Given the description of an element on the screen output the (x, y) to click on. 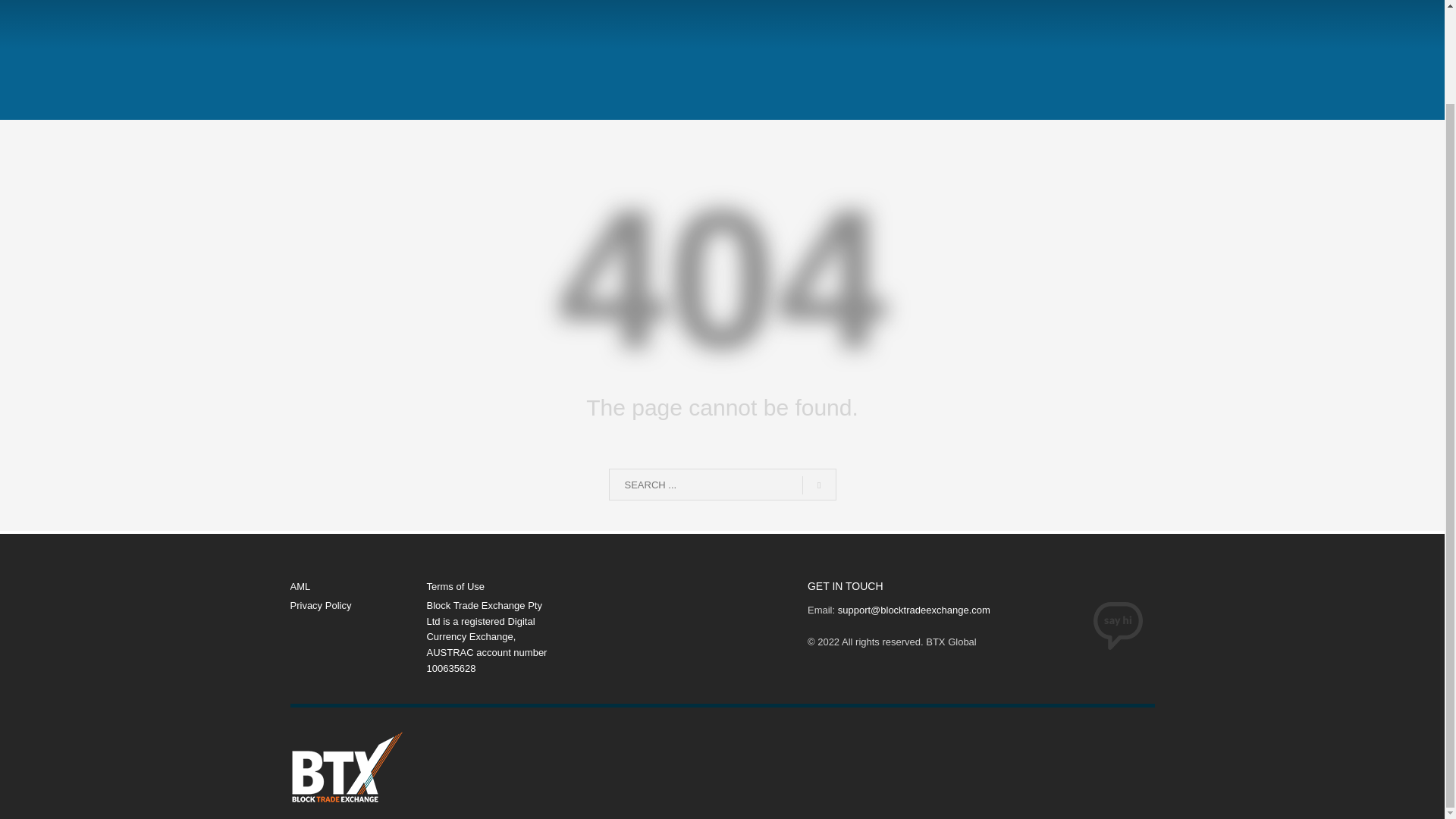
Terms of Use (494, 587)
AML (357, 587)
go (818, 485)
Privacy Policy (357, 606)
